Given the description of an element on the screen output the (x, y) to click on. 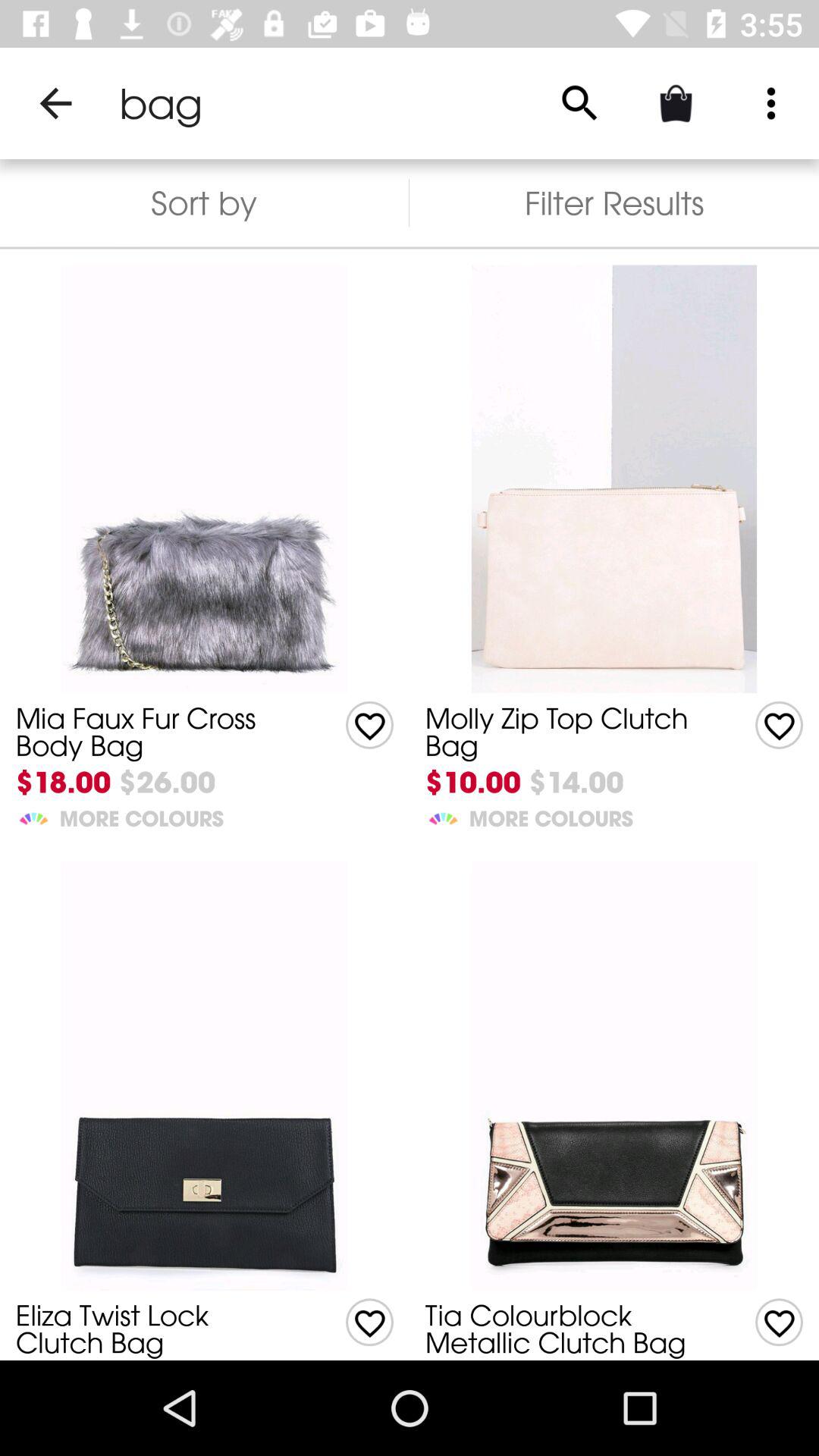
favorite this item (779, 725)
